Given the description of an element on the screen output the (x, y) to click on. 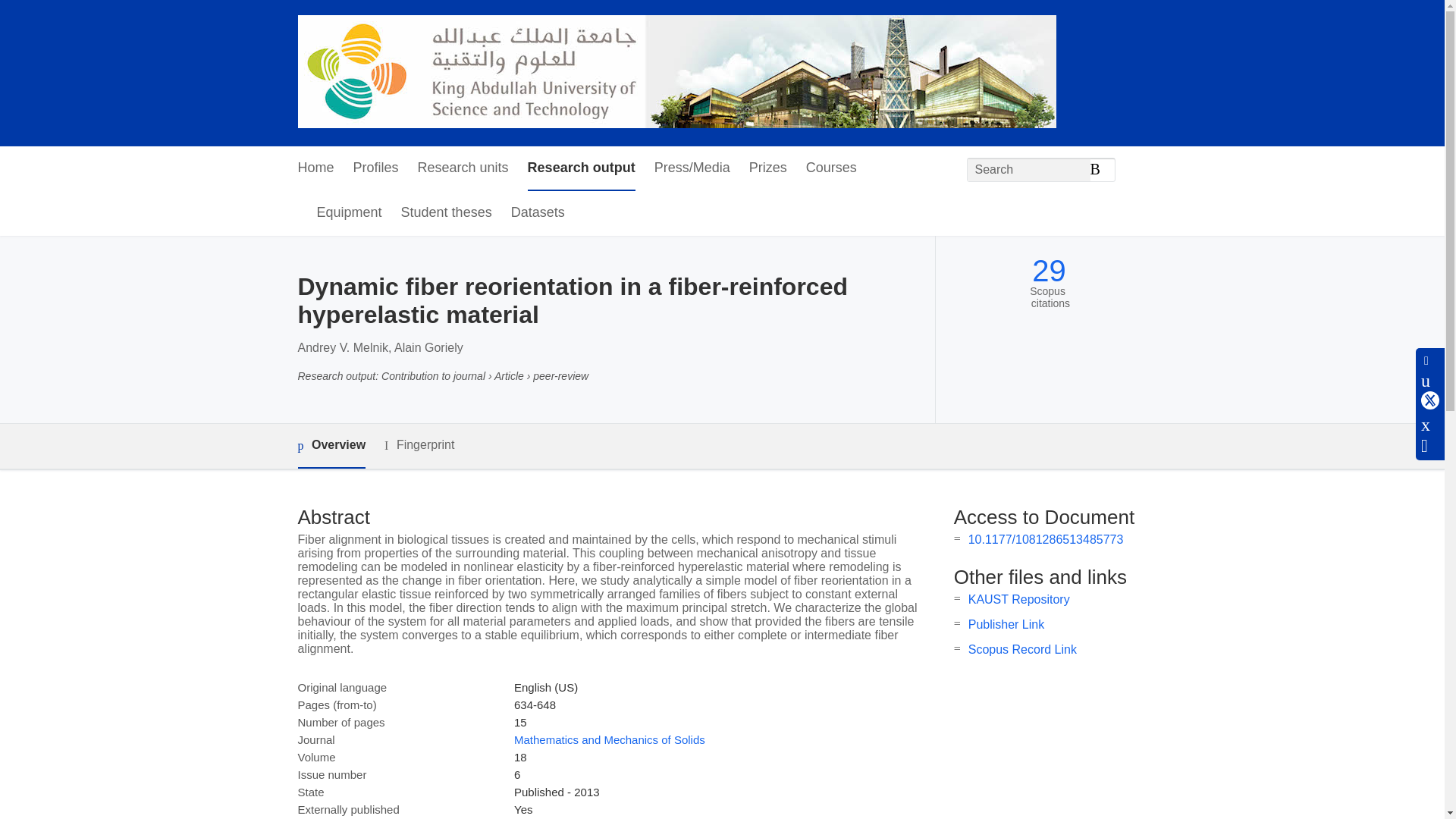
Research units (462, 168)
Mathematics and Mechanics of Solids (608, 739)
Publisher Link (1006, 624)
Scopus Record Link (1022, 649)
KAUST PORTAL FOR RESEARCHERS AND STUDENTS Home (676, 73)
Home (315, 168)
Student theses (446, 212)
Fingerprint (419, 445)
Equipment (349, 212)
KAUST Repository (1019, 599)
Courses (831, 168)
29 (1048, 270)
Profiles (375, 168)
Datasets (537, 212)
